Given the description of an element on the screen output the (x, y) to click on. 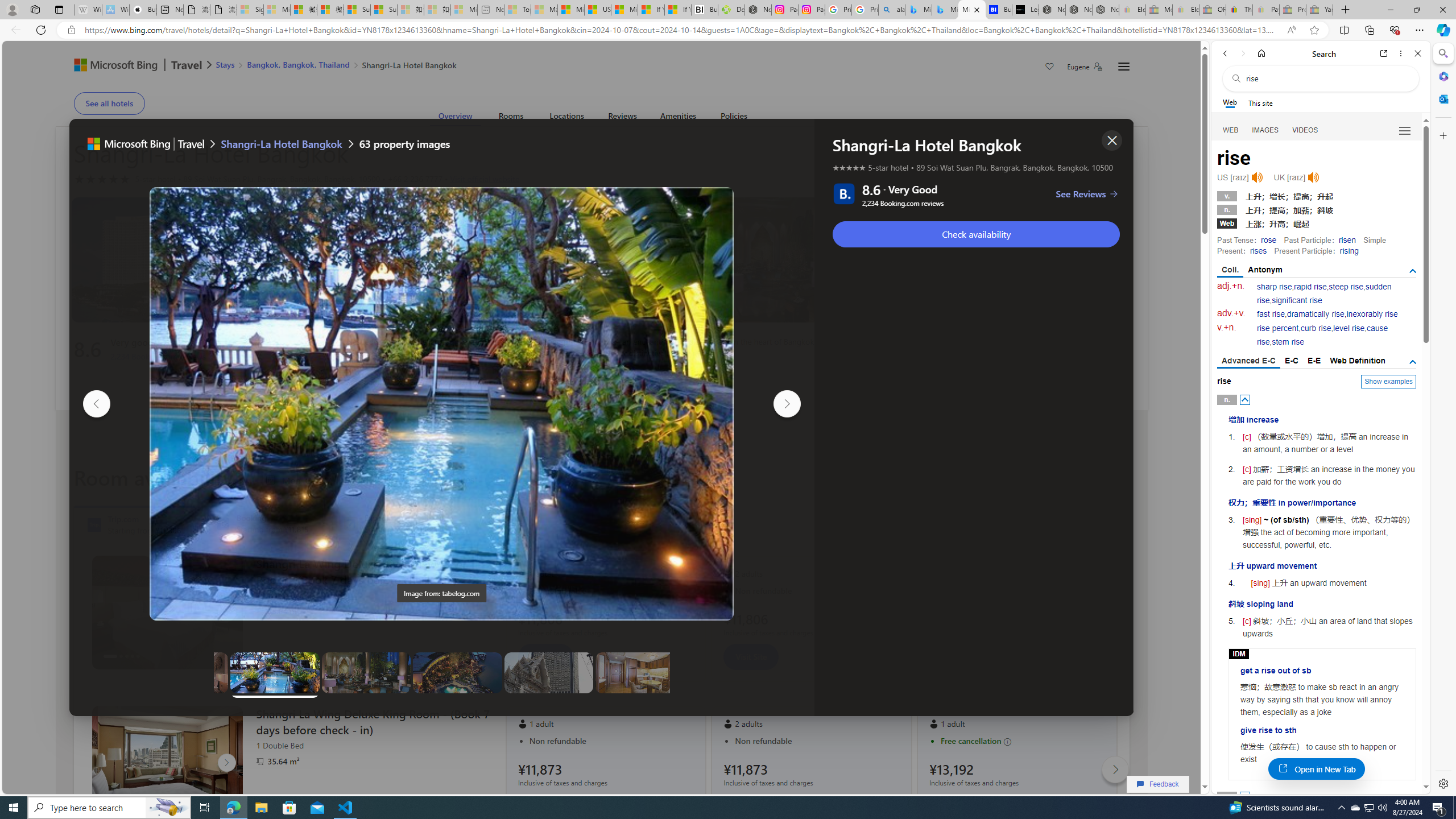
Advanced E-C (1248, 361)
AutomationID: posbtn_1 (1245, 796)
Top Stories - MSN - Sleeping (517, 9)
rapid rise (1310, 286)
Yard, Garden & Outdoor Living - Sleeping (1319, 9)
Microsoft Services Agreement - Sleeping (277, 9)
US Heat Deaths Soared To Record High Last Year (597, 9)
